Given the description of an element on the screen output the (x, y) to click on. 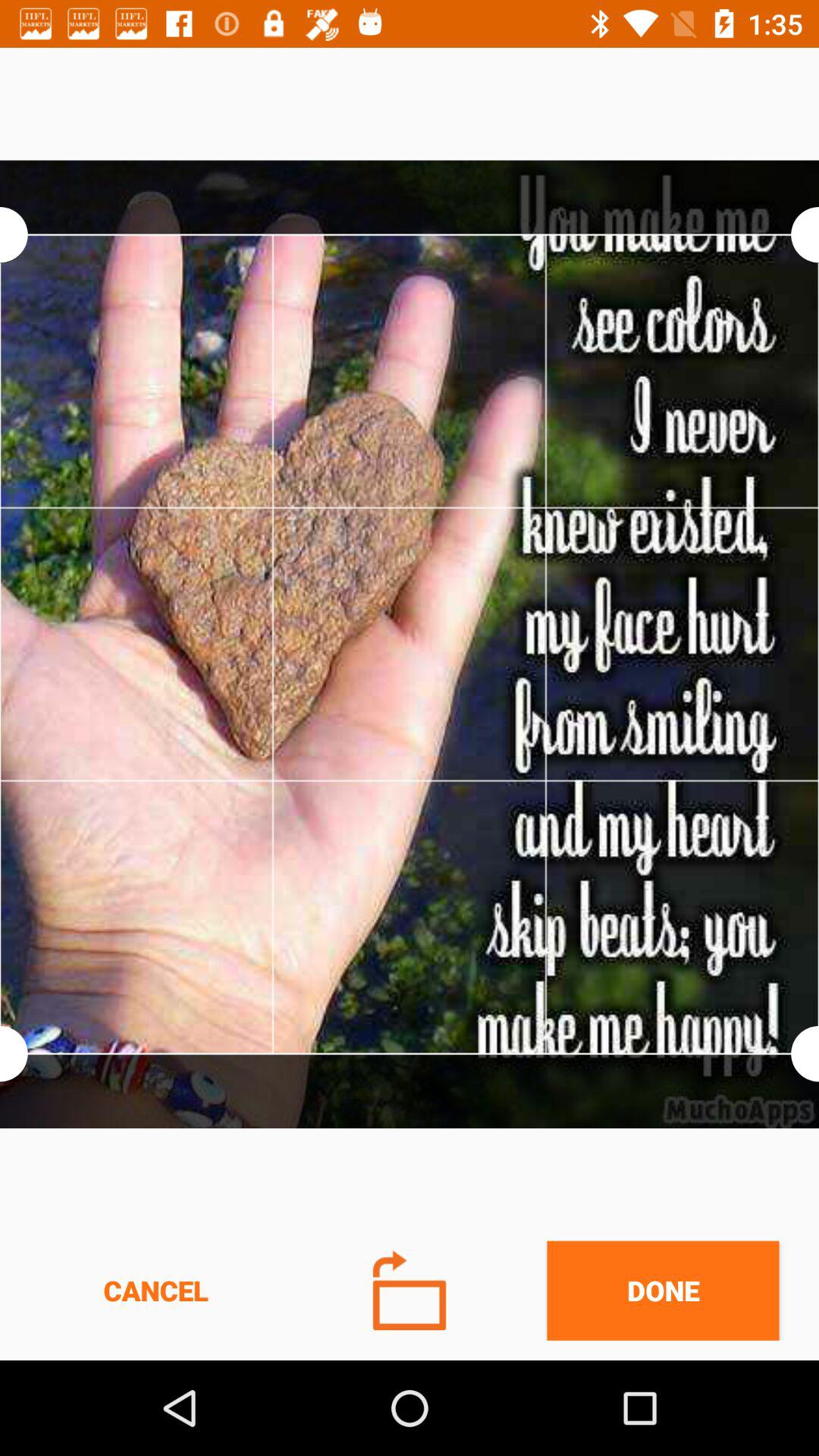
tap icon to the right of the cancel item (409, 1290)
